Given the description of an element on the screen output the (x, y) to click on. 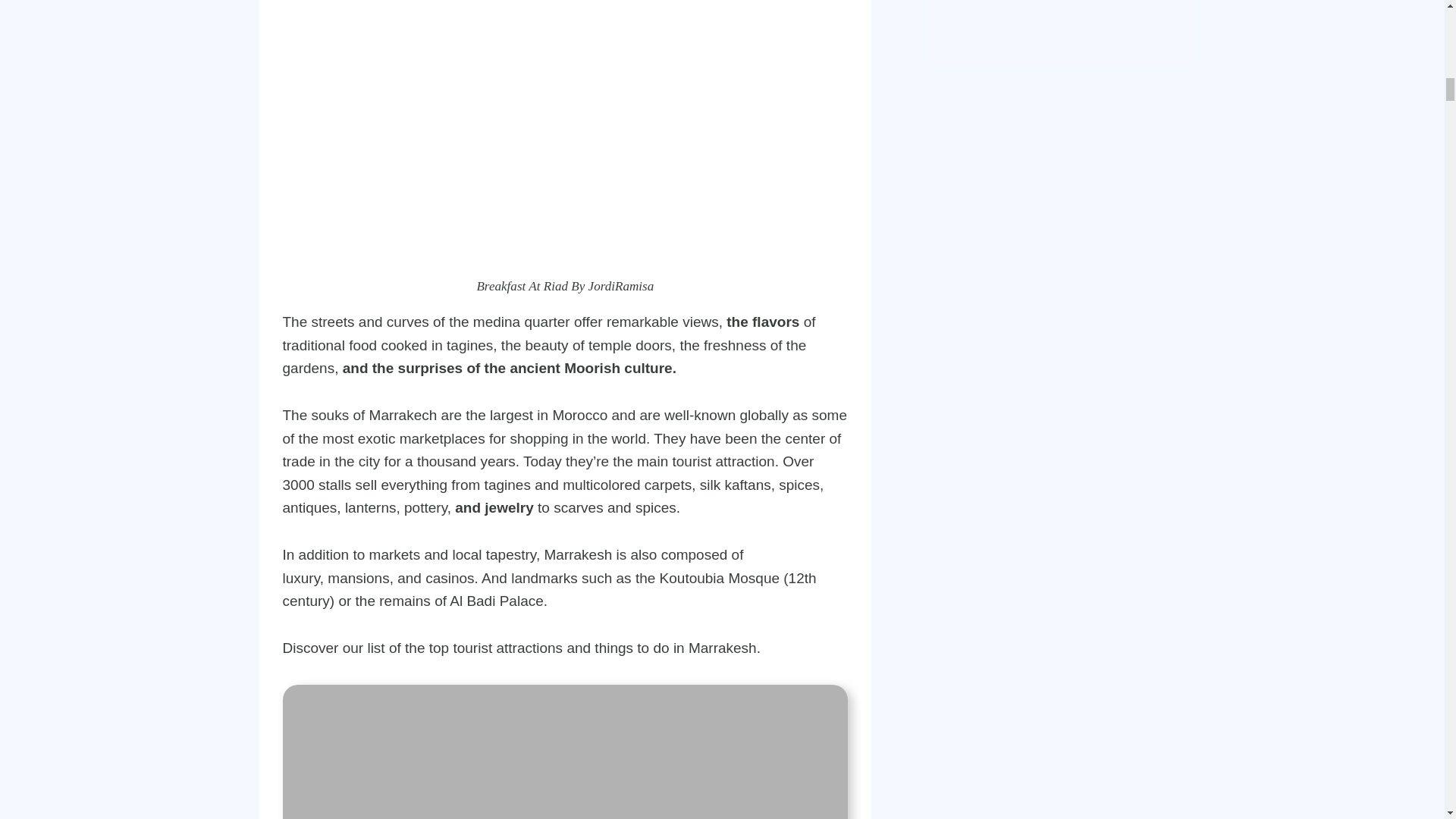
DiscoverCars.com (1061, 33)
